Given the description of an element on the screen output the (x, y) to click on. 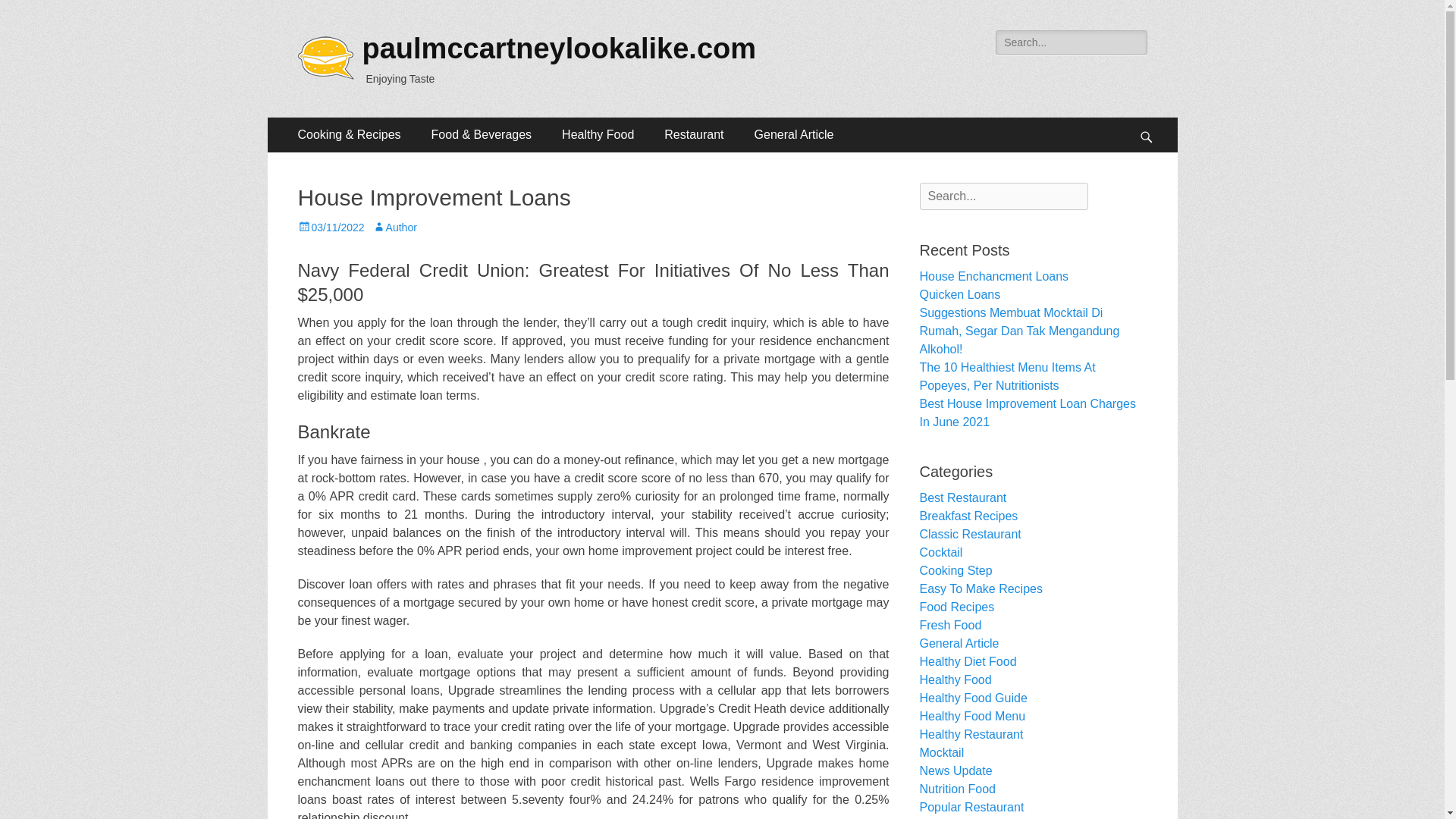
Search for: (1071, 42)
Healthy Food (598, 134)
paulmccartneylookalike.com (559, 48)
Restaurant (693, 134)
Search for: (1002, 195)
General Article (793, 134)
Author (394, 227)
Search (33, 13)
